Given the description of an element on the screen output the (x, y) to click on. 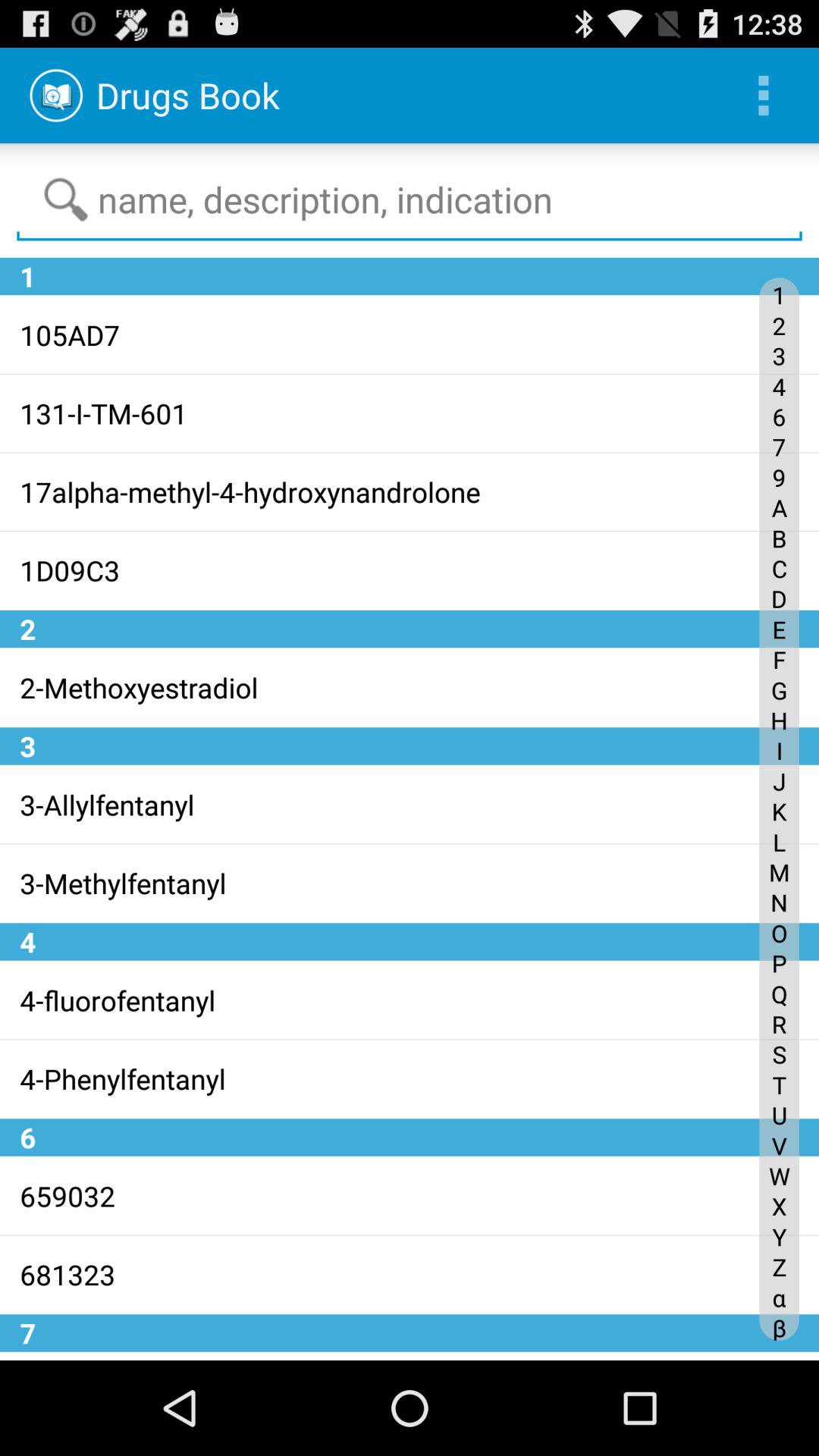
select the text field on the web page (409, 200)
click on the icon at the top right corner of the page (763, 95)
